Given the description of an element on the screen output the (x, y) to click on. 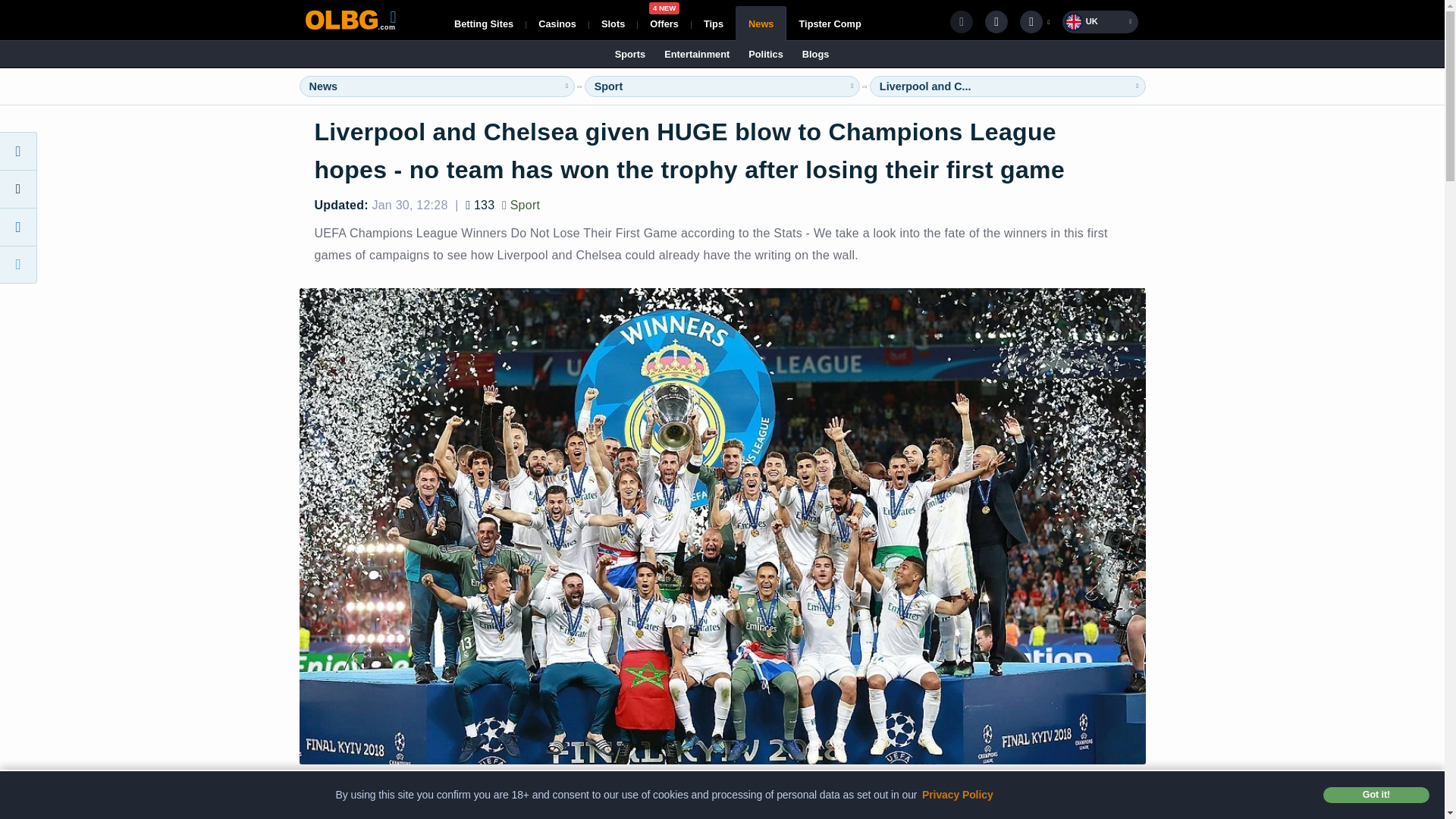
News (322, 86)
Slots (613, 23)
Liverpool and C... (925, 86)
News (663, 23)
Tipster Comp (761, 23)
Casinos (829, 23)
Sport (556, 23)
Tips (483, 23)
